Given the description of an element on the screen output the (x, y) to click on. 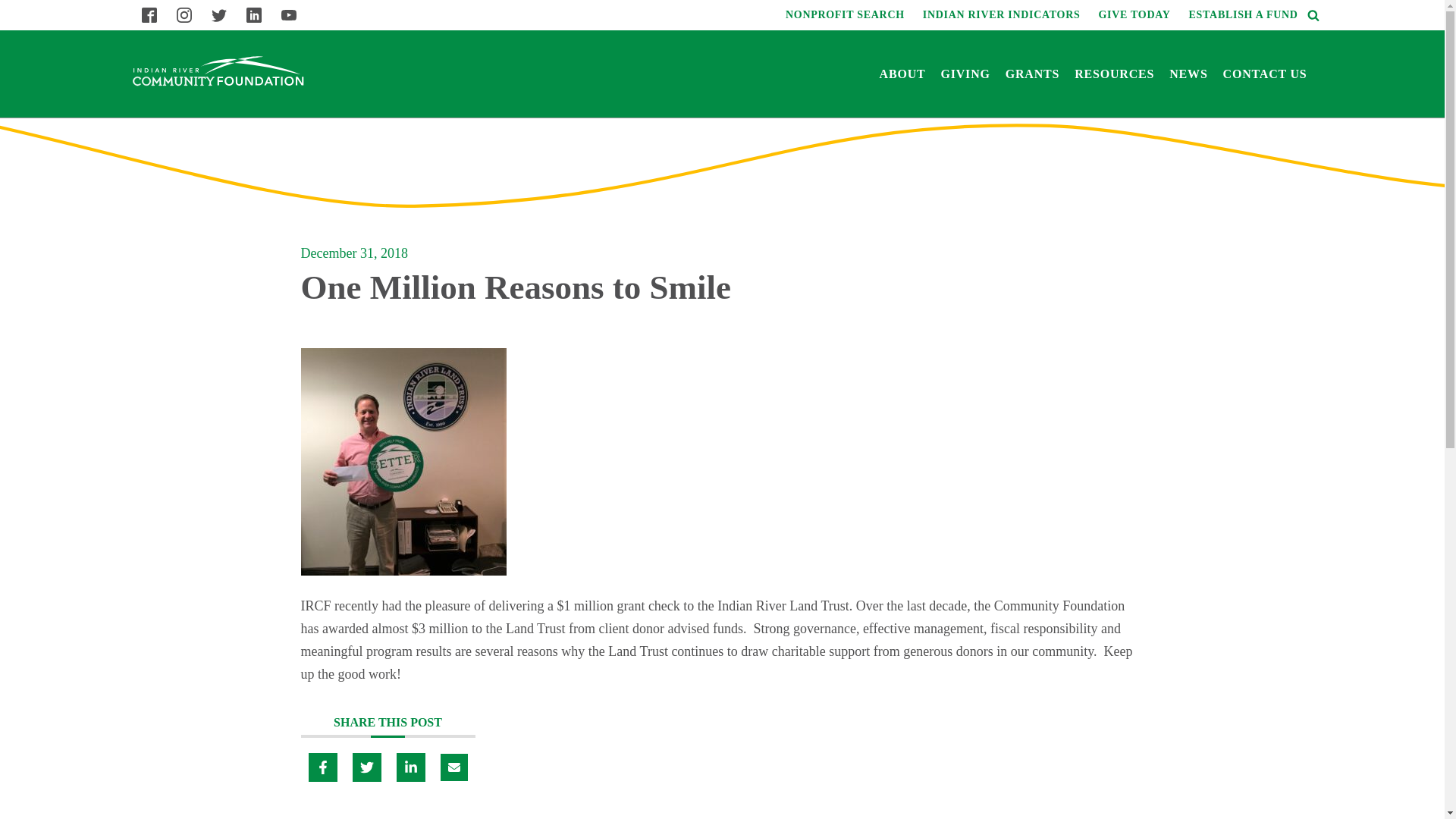
CONTACT US (1264, 73)
Indian River Community Foundation - Search Site (1310, 14)
GIVE TODAY (1134, 15)
Share on LinkedIn (410, 767)
Pin it (366, 767)
ABOUT (902, 73)
NONPROFIT SEARCH (845, 15)
ESTABLISH A FUND (1243, 15)
Share on Facebook (321, 767)
Establish a Fund (1243, 15)
